Given the description of an element on the screen output the (x, y) to click on. 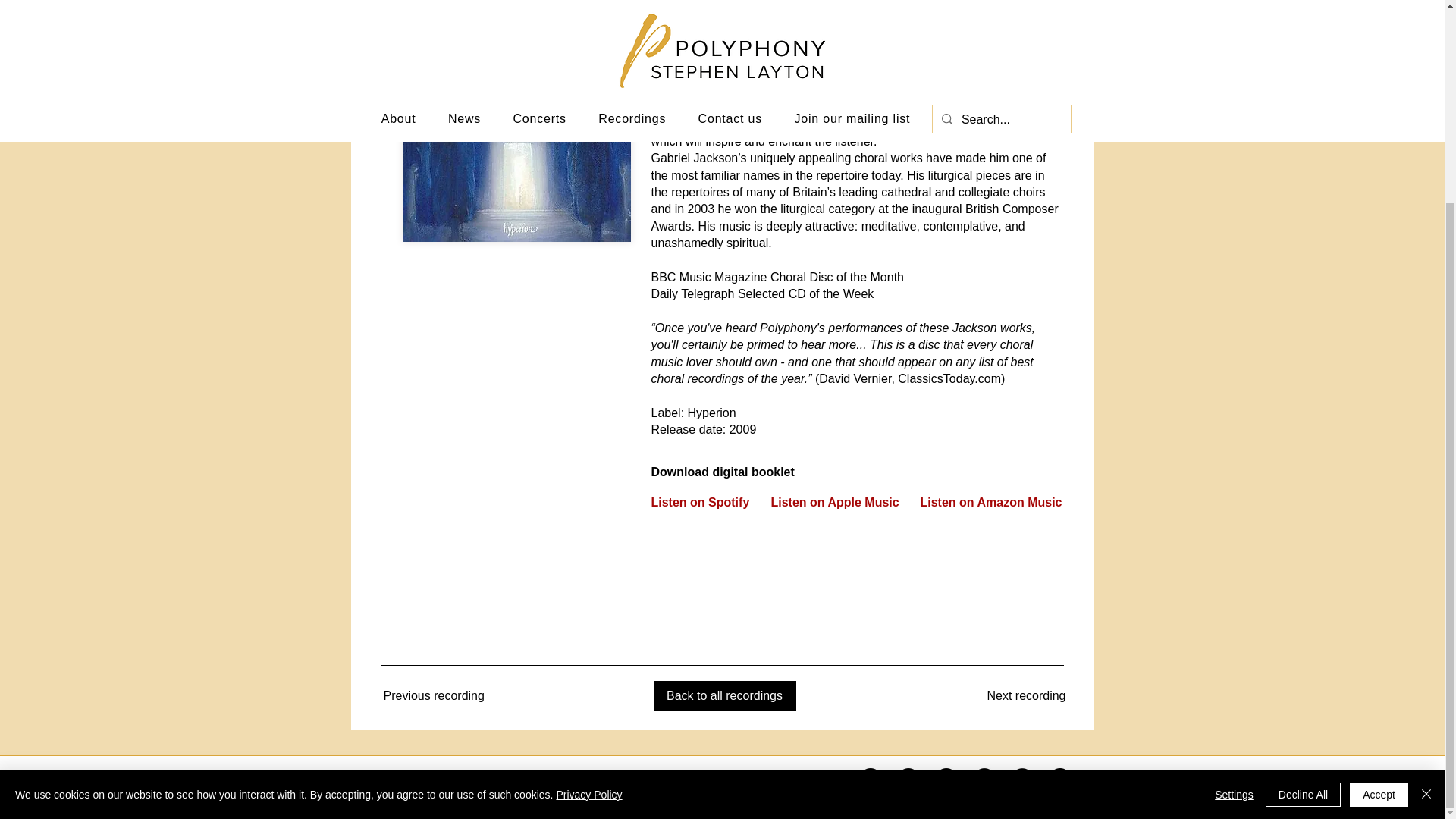
Terms and conditions (782, 780)
Credits (580, 780)
Listen on Amazon Music (991, 502)
Back to all recordings (724, 695)
Listen on Apple Music (834, 502)
Privacy policy (663, 780)
Listen on Spotify (699, 502)
Previous recording (446, 695)
Privacy Policy (588, 535)
Download digital booklet (763, 472)
Decline All (1302, 535)
Next recording (1006, 695)
Accept (1378, 535)
